Given the description of an element on the screen output the (x, y) to click on. 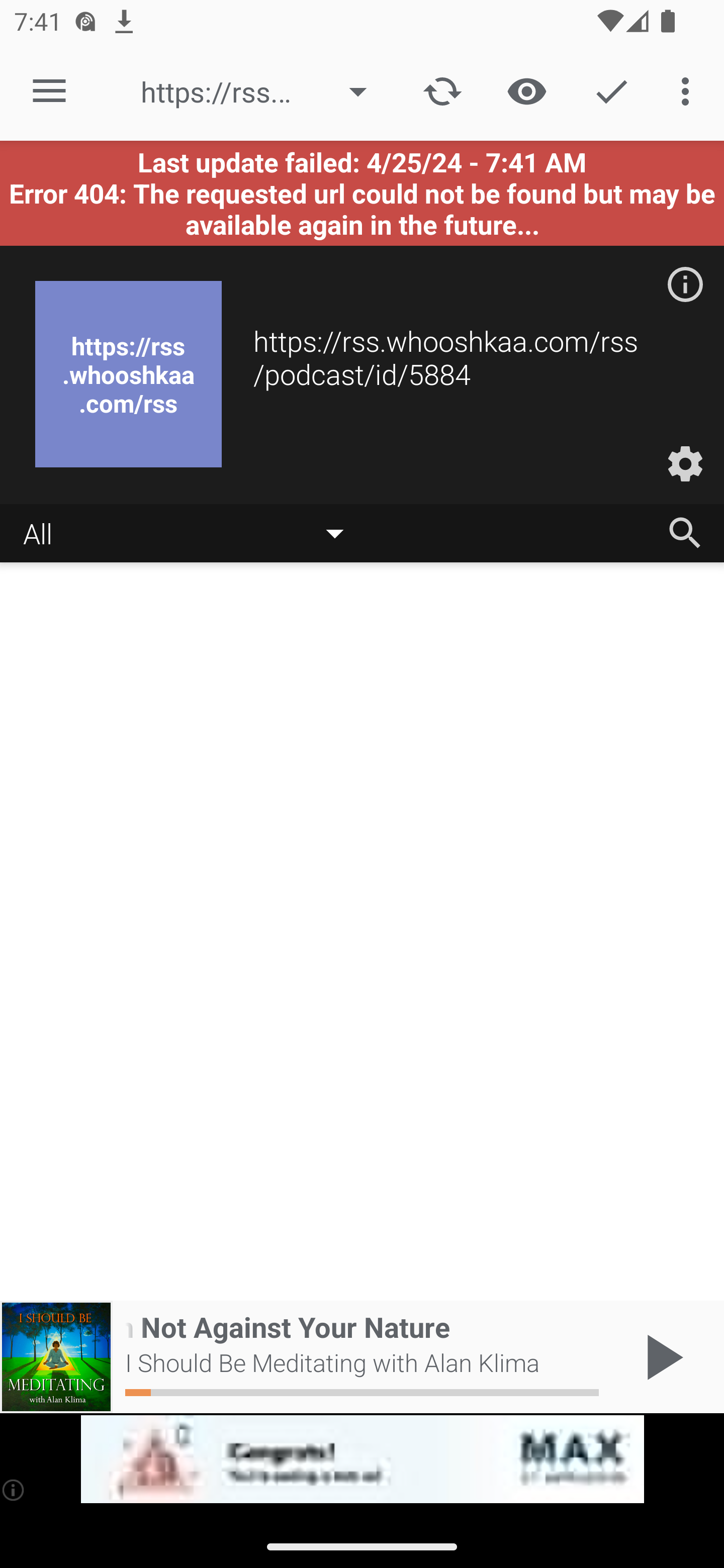
Open navigation sidebar (49, 91)
Update (442, 90)
Show / Hide played content (526, 90)
Action Mode (611, 90)
More options (688, 90)
https://rss.whooshkaa.com/rss/podcast/id/5884 (263, 91)
Podcast description (685, 284)
Custom Settings (685, 463)
Search (684, 533)
All (192, 533)
Play / Pause (660, 1356)
app-monetization (362, 1459)
(i) (14, 1489)
